Given the description of an element on the screen output the (x, y) to click on. 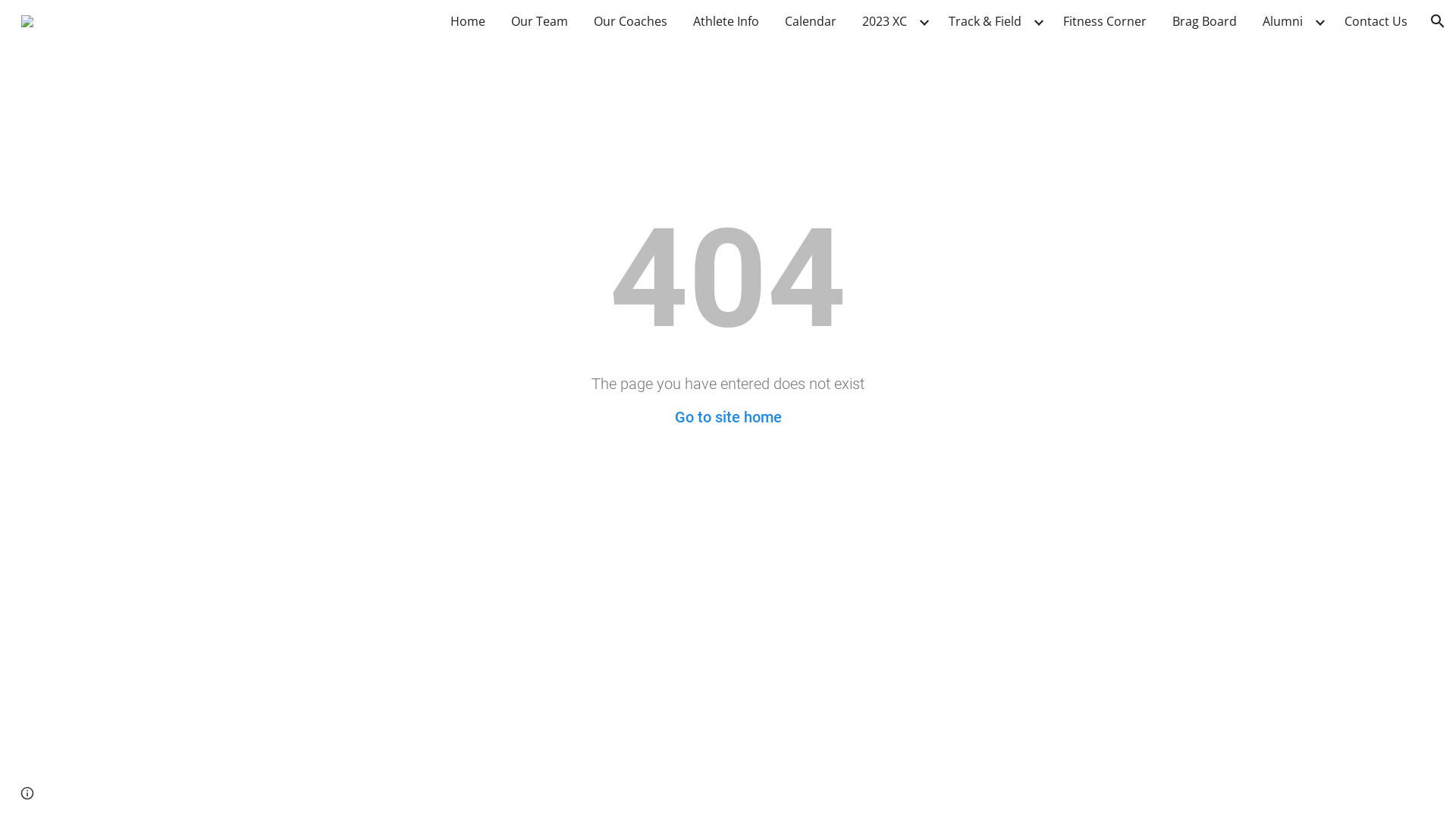
Calendar Element type: text (810, 20)
Go to site home Element type: text (727, 416)
Expand/Collapse Element type: hover (1037, 20)
Expand/Collapse Element type: hover (923, 20)
Our Team Element type: text (539, 20)
Home Element type: text (467, 20)
Alumni Element type: text (1282, 20)
Track & Field Element type: text (985, 20)
2023 XC Element type: text (884, 20)
Brag Board Element type: text (1204, 20)
Fitness Corner Element type: text (1104, 20)
Athlete Info Element type: text (725, 20)
Contact Us Element type: text (1375, 20)
Our Coaches Element type: text (630, 20)
Expand/Collapse Element type: hover (1319, 20)
